Given the description of an element on the screen output the (x, y) to click on. 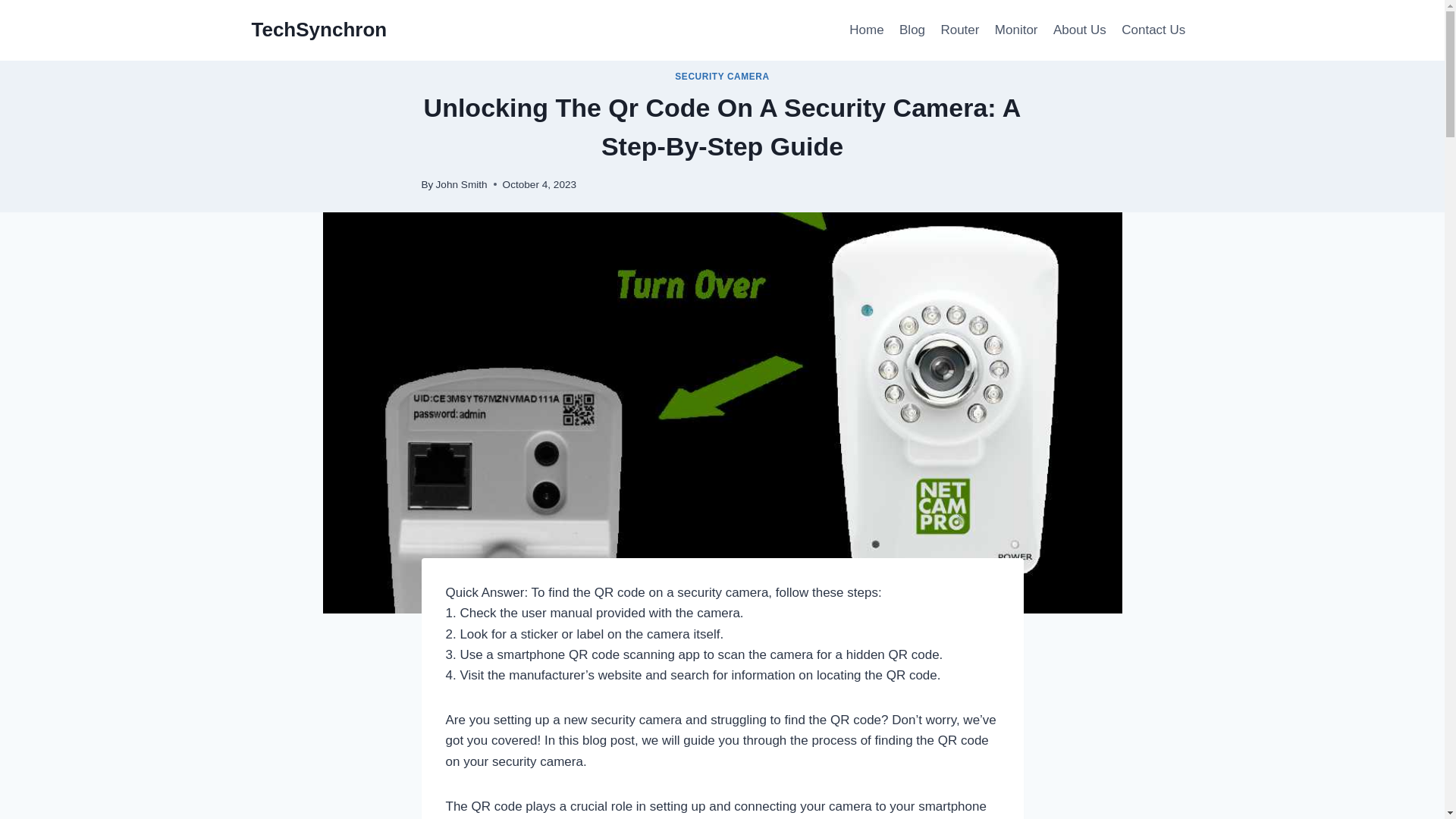
Contact Us (1152, 30)
Blog (912, 30)
About Us (1079, 30)
TechSynchron (319, 29)
SECURITY CAMERA (721, 76)
Monitor (1016, 30)
Router (960, 30)
Home (866, 30)
John Smith (461, 184)
